Given the description of an element on the screen output the (x, y) to click on. 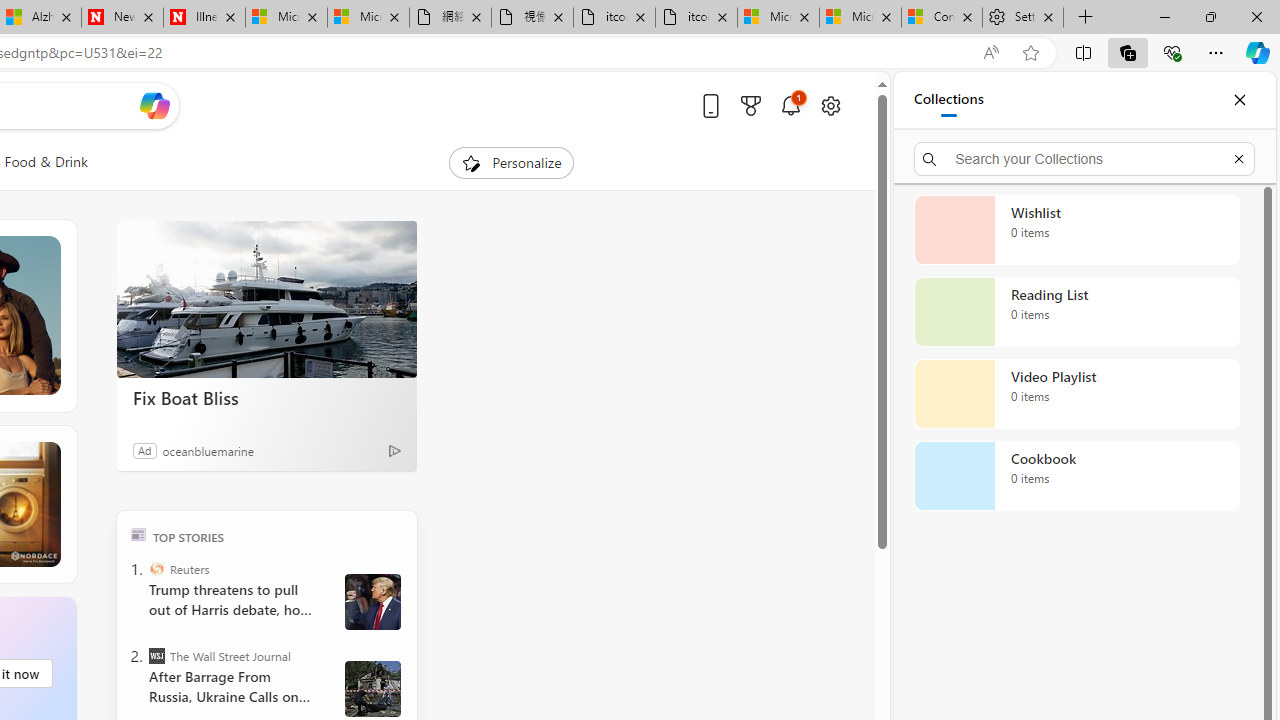
Fix Boat Bliss (266, 299)
Fix Boat Bliss (266, 397)
Video Playlist collection, 0 items (1076, 394)
Illness news & latest pictures from Newsweek.com (203, 17)
Reuters (156, 568)
